Given the description of an element on the screen output the (x, y) to click on. 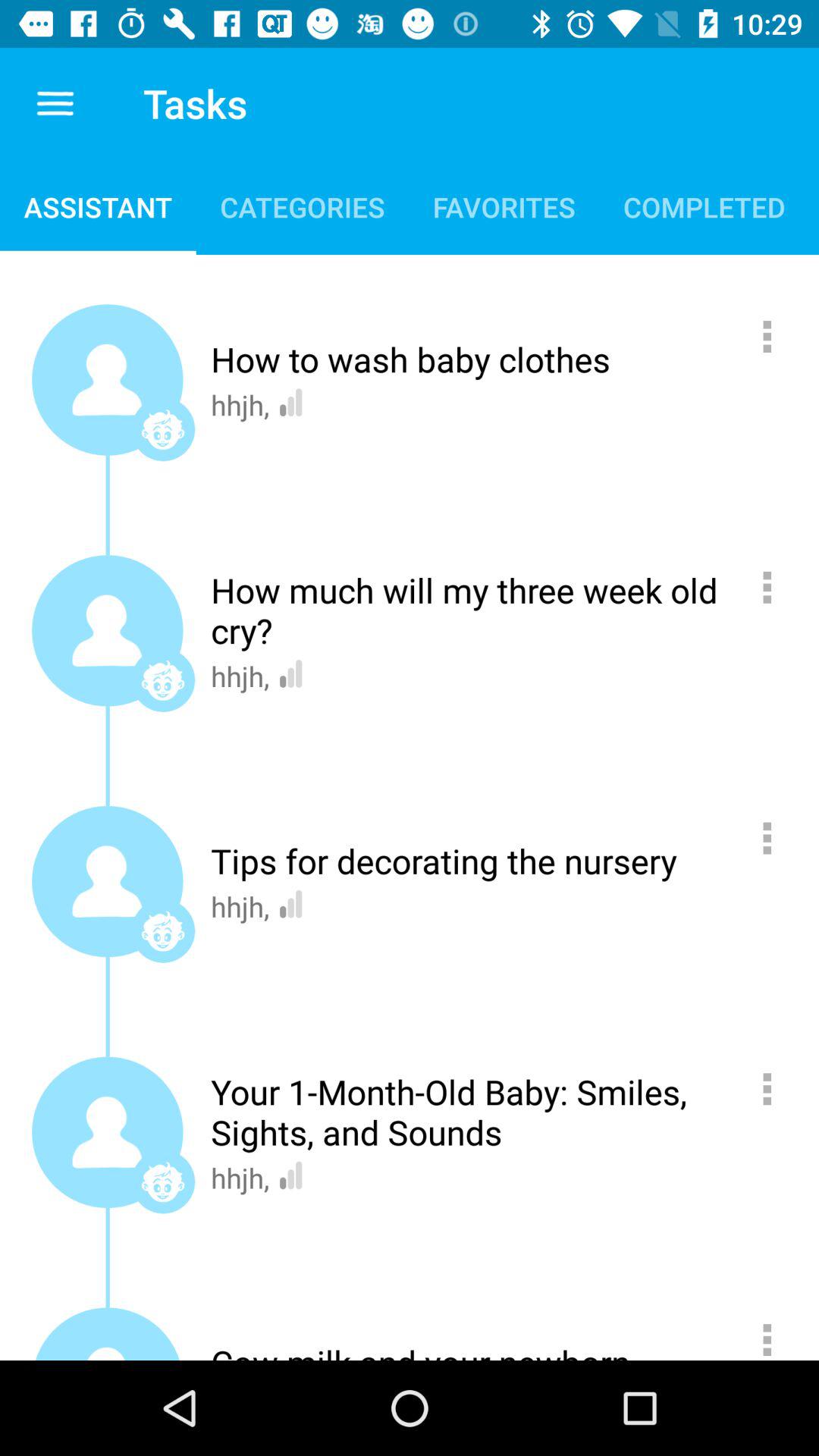
open options (775, 1334)
